Given the description of an element on the screen output the (x, y) to click on. 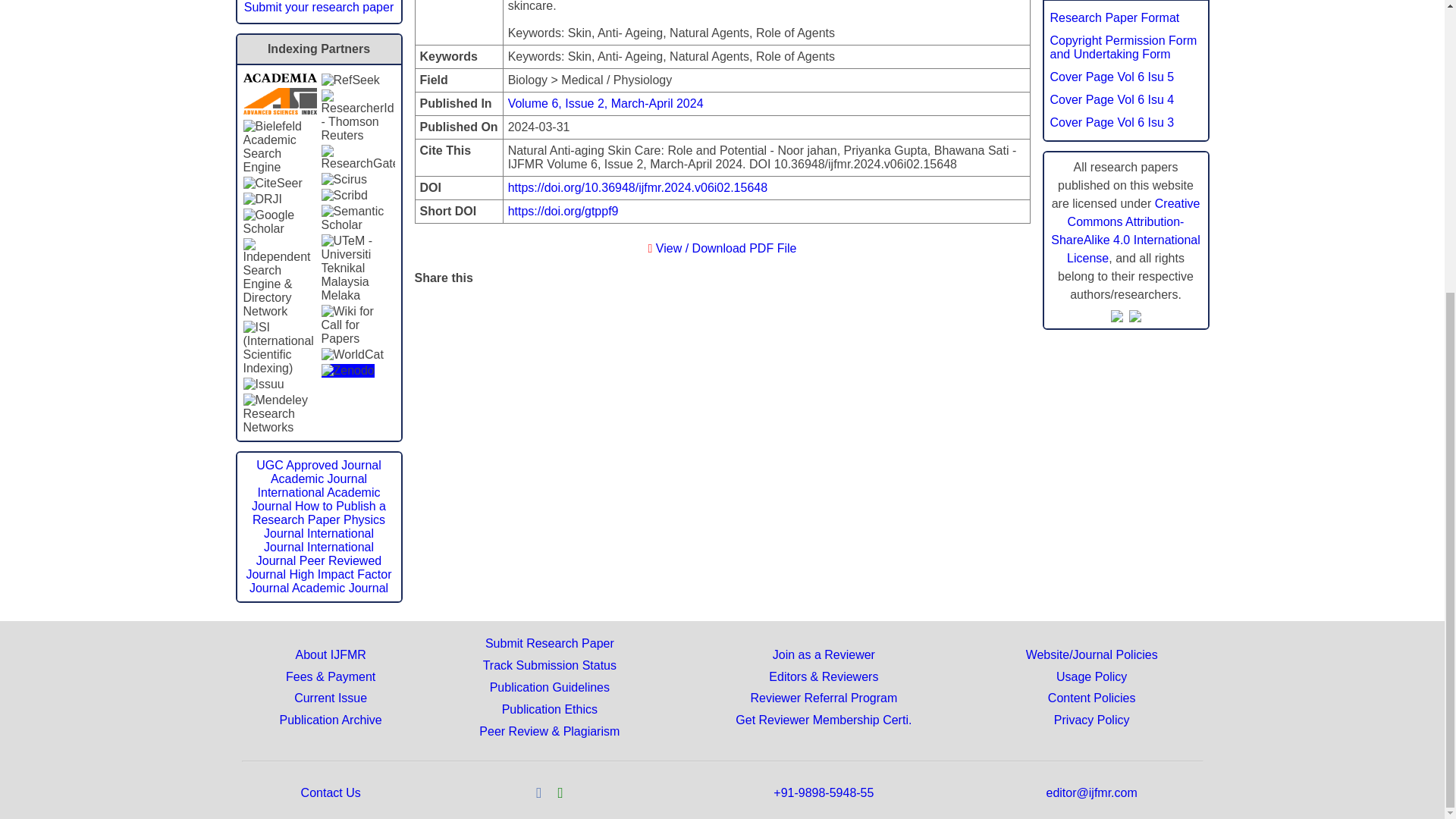
DRJI (262, 199)
ResearchGate (357, 157)
Scirus (343, 179)
International Journal (318, 540)
Bielefeld Academic Search Engine (279, 146)
Academia.edu (279, 78)
Issuu (263, 384)
Academic Journal (318, 478)
Volume 6, Issue 2, March-April 2024 (605, 103)
Physics Journal (324, 526)
